Given the description of an element on the screen output the (x, y) to click on. 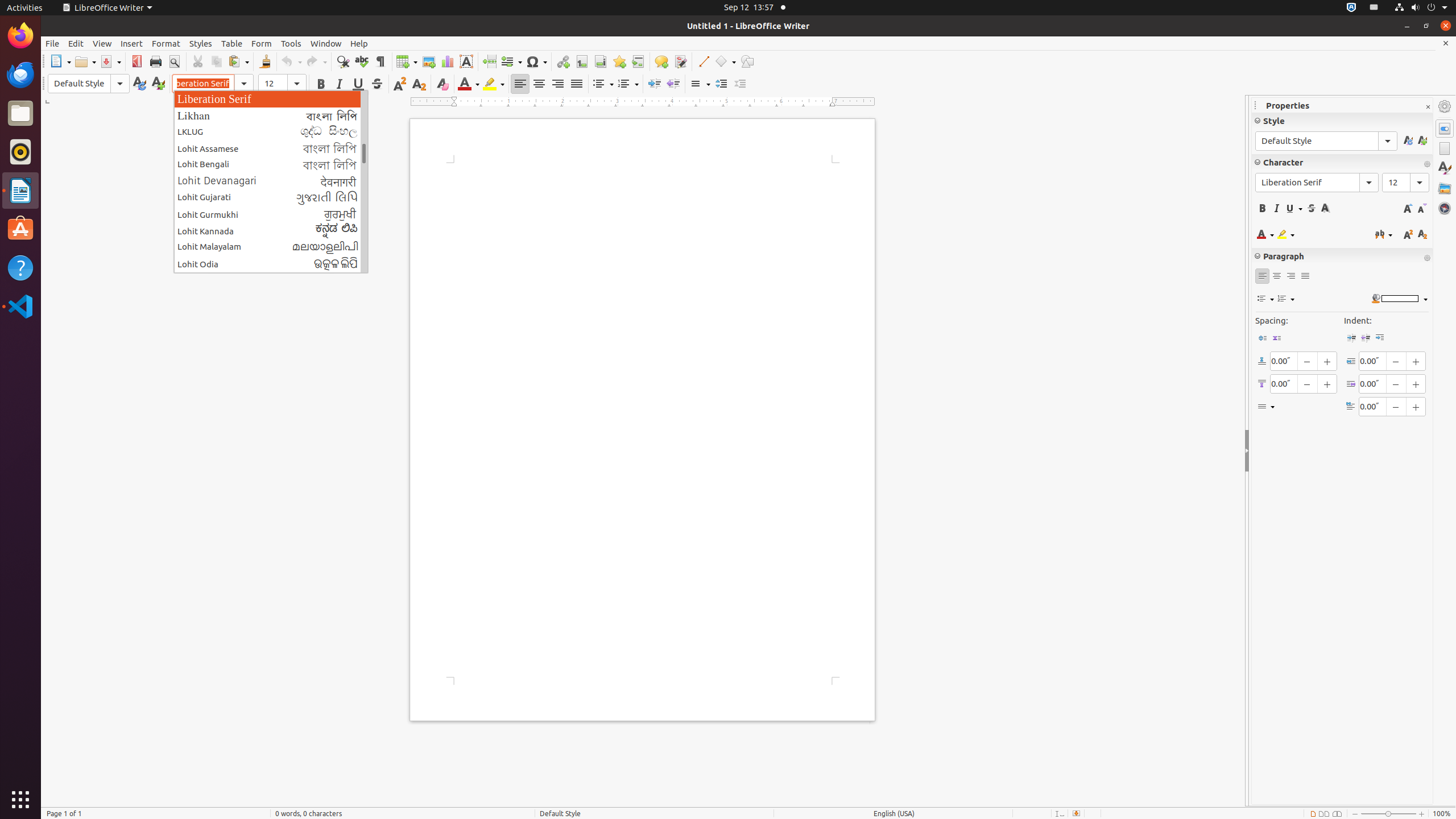
Numbering Element type: push-button (627, 83)
LibreOffice Writer Element type: menu (106, 7)
PDF Element type: push-button (136, 61)
Window Element type: menu (325, 43)
Background Color Element type: push-button (1399, 298)
